Given the description of an element on the screen output the (x, y) to click on. 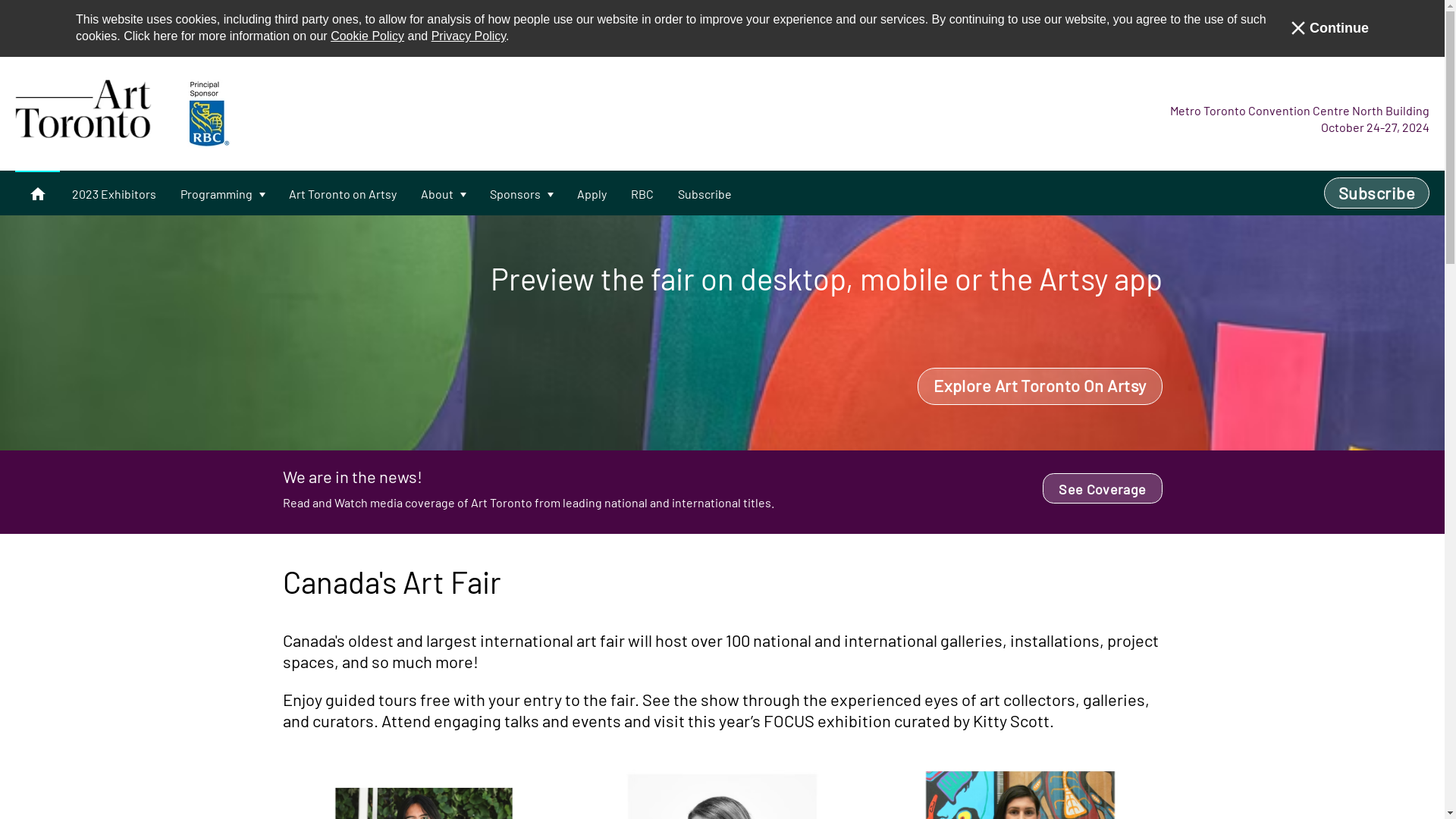
Apply Element type: text (591, 193)
See Coverage Element type: text (1101, 488)
Privacy Policy Element type: text (468, 35)
Subscribe Element type: text (1376, 192)
Art Toronto on Artsy Element type: text (342, 193)
Subscribe Element type: text (704, 193)
Cookie Policy Element type: text (367, 35)
home Element type: text (37, 192)
2023 Exhibitors Element type: text (113, 193)
RBC Element type: text (641, 193)
Explore Art Toronto On Artsy Element type: text (1039, 385)
